Given the description of an element on the screen output the (x, y) to click on. 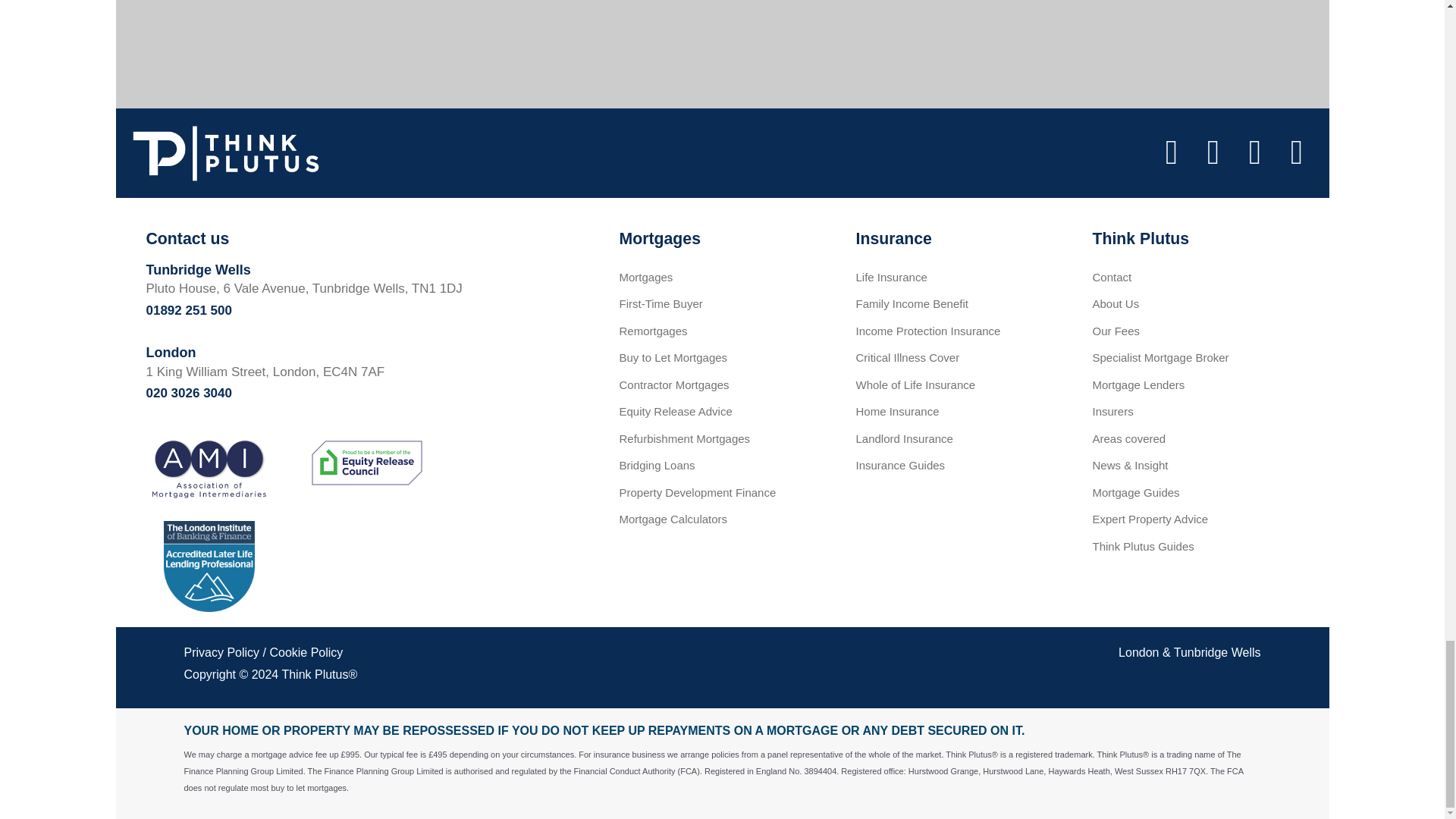
Think Plutus logo (225, 152)
Mortgage Broker Tunbridge Wells (1216, 652)
Privacy Policy (221, 652)
Cookie Policy  (305, 652)
Think Plutus (314, 674)
member society of mortgage professionals (366, 558)
member equity release council (366, 462)
LIBF Accredited Later Life Lending professional Dave Relfe (208, 565)
Mortgage Broker London (1138, 652)
Association of Mortgage Intermediaries logo (209, 467)
